Given the description of an element on the screen output the (x, y) to click on. 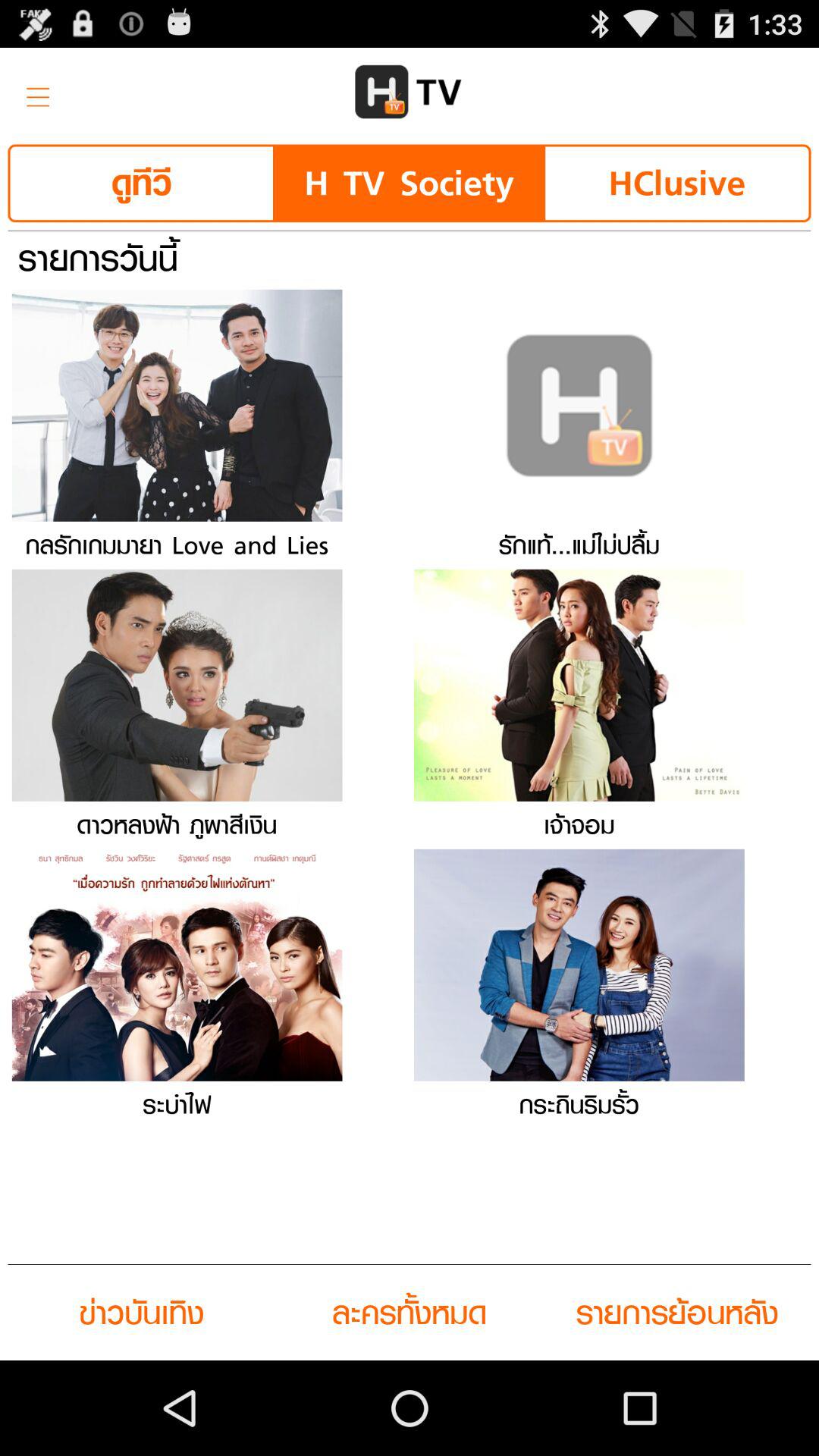
launch item to the right of the h tv society item (677, 183)
